Given the description of an element on the screen output the (x, y) to click on. 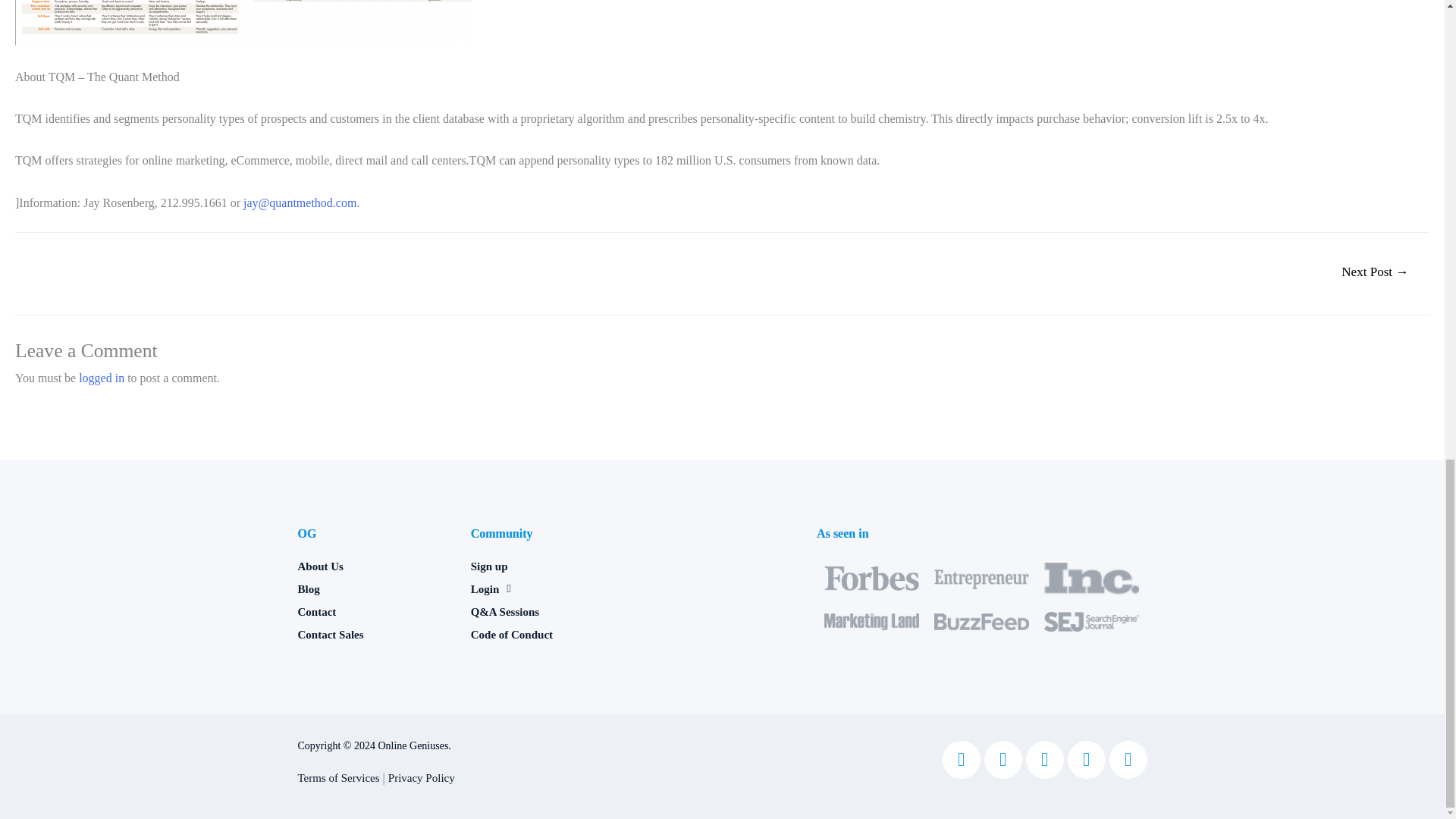
Contact (375, 611)
Login (549, 589)
logged in (100, 377)
Blog (375, 589)
Sign up (549, 566)
Code of Conduct (549, 634)
Terms of Services (337, 777)
Contact Sales (375, 634)
About Us (375, 566)
Privacy Policy (421, 777)
